Given the description of an element on the screen output the (x, y) to click on. 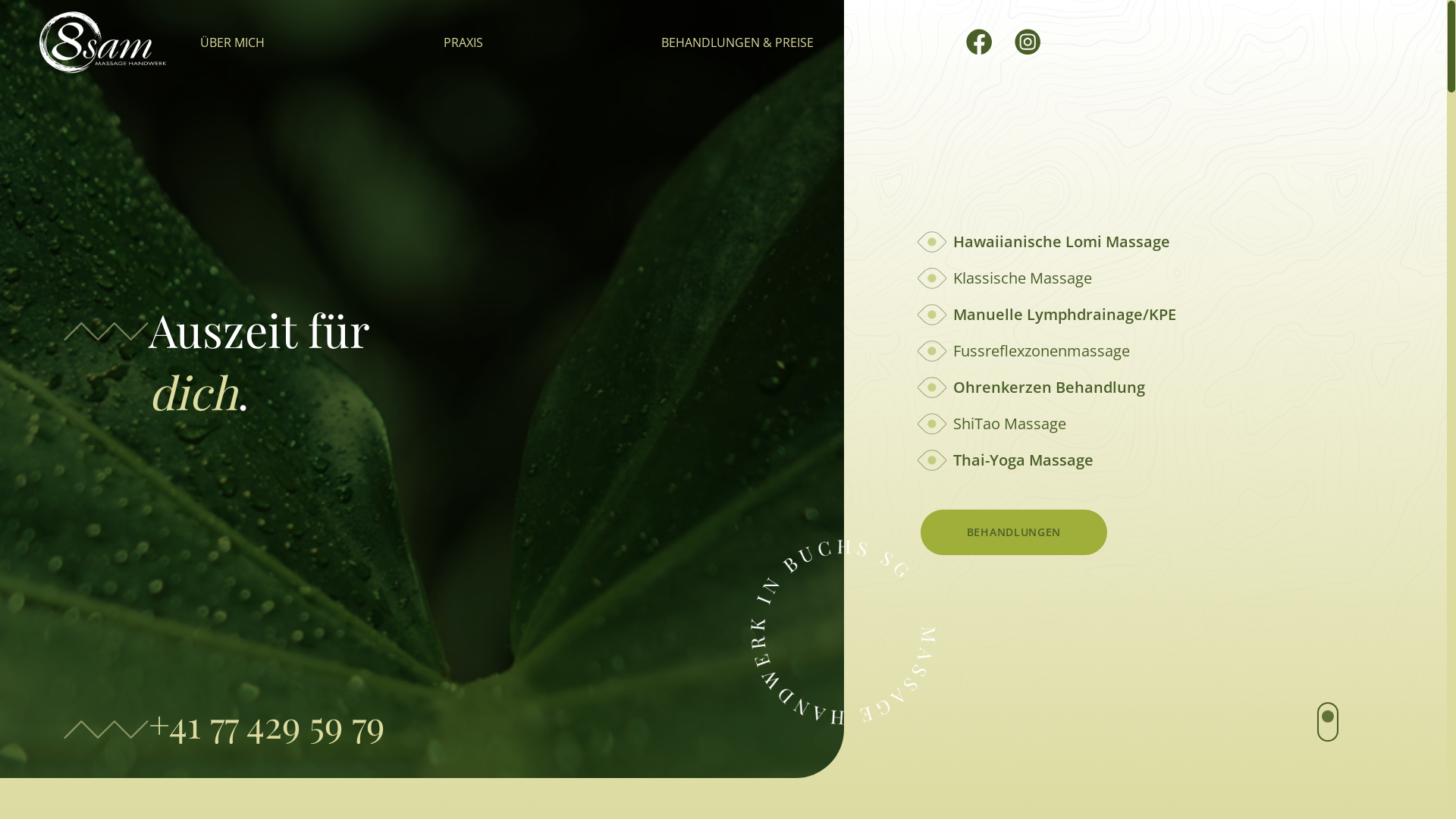
BEHANDLUNGEN Element type: text (1013, 531)
PRAXIS Element type: text (462, 42)
BEHANDLUNGEN & PREISE Element type: text (737, 42)
